Given the description of an element on the screen output the (x, y) to click on. 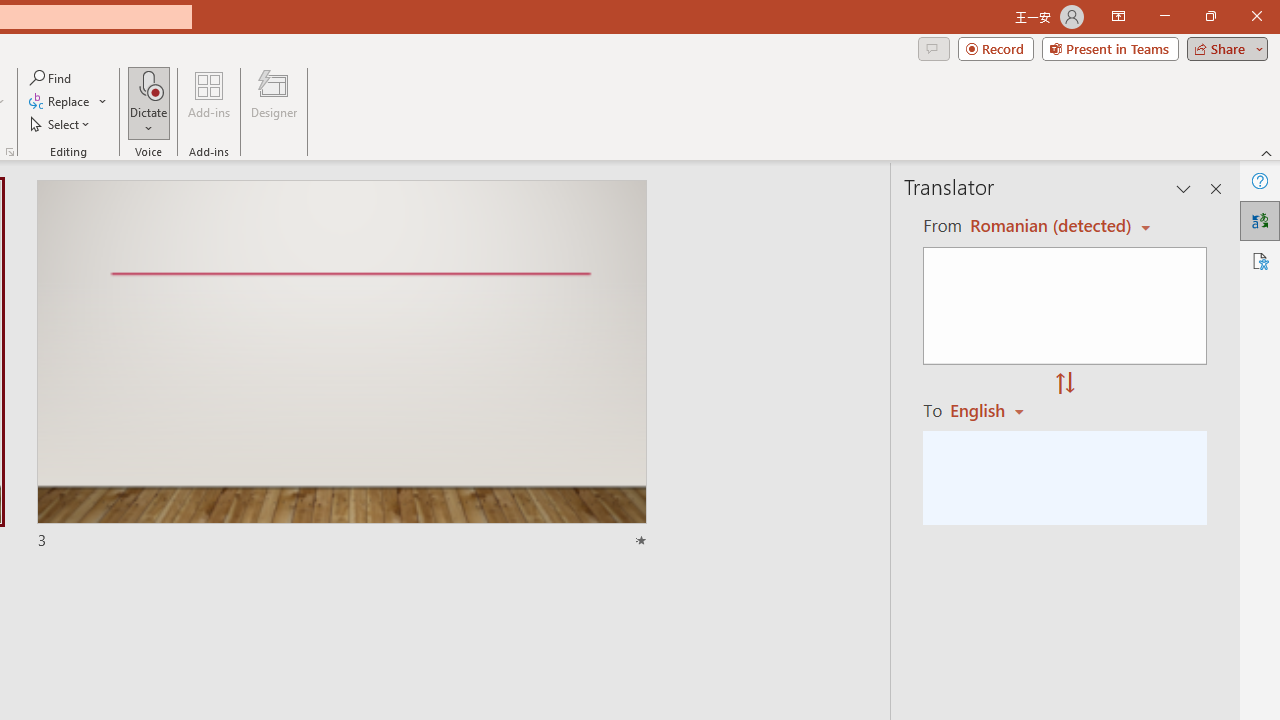
Help (1260, 180)
Task Pane Options (1183, 188)
Translator (1260, 220)
Select (61, 124)
Ribbon Display Options (1118, 16)
Present in Teams (1109, 48)
Restore Down (1210, 16)
Replace... (68, 101)
Swap "from" and "to" languages. (1065, 383)
Dictate (149, 84)
Czech (detected) (1047, 225)
Record (995, 48)
Close (1256, 16)
Collapse the Ribbon (1267, 152)
